Given the description of an element on the screen output the (x, y) to click on. 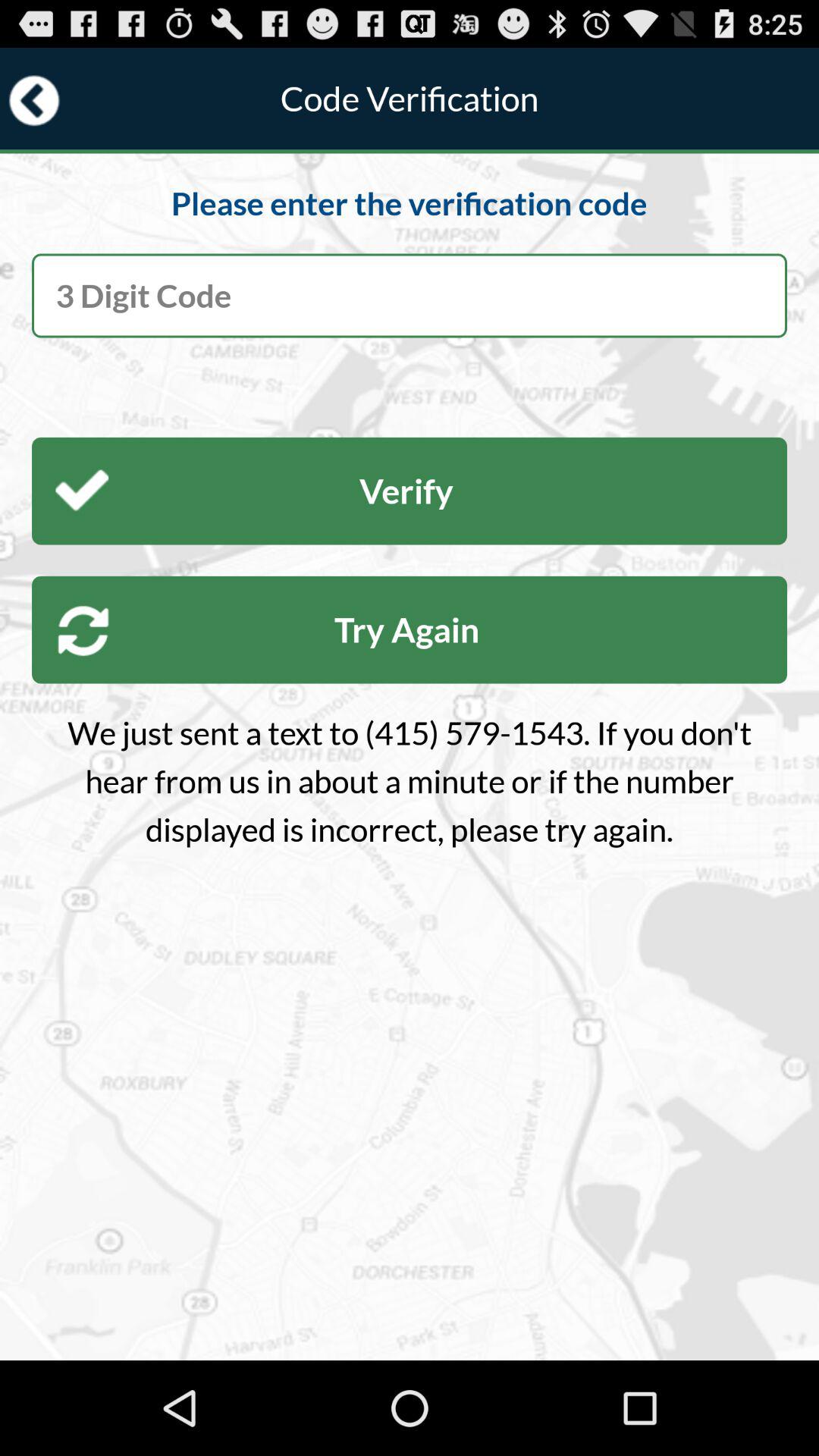
launch item above try again item (409, 490)
